Given the description of an element on the screen output the (x, y) to click on. 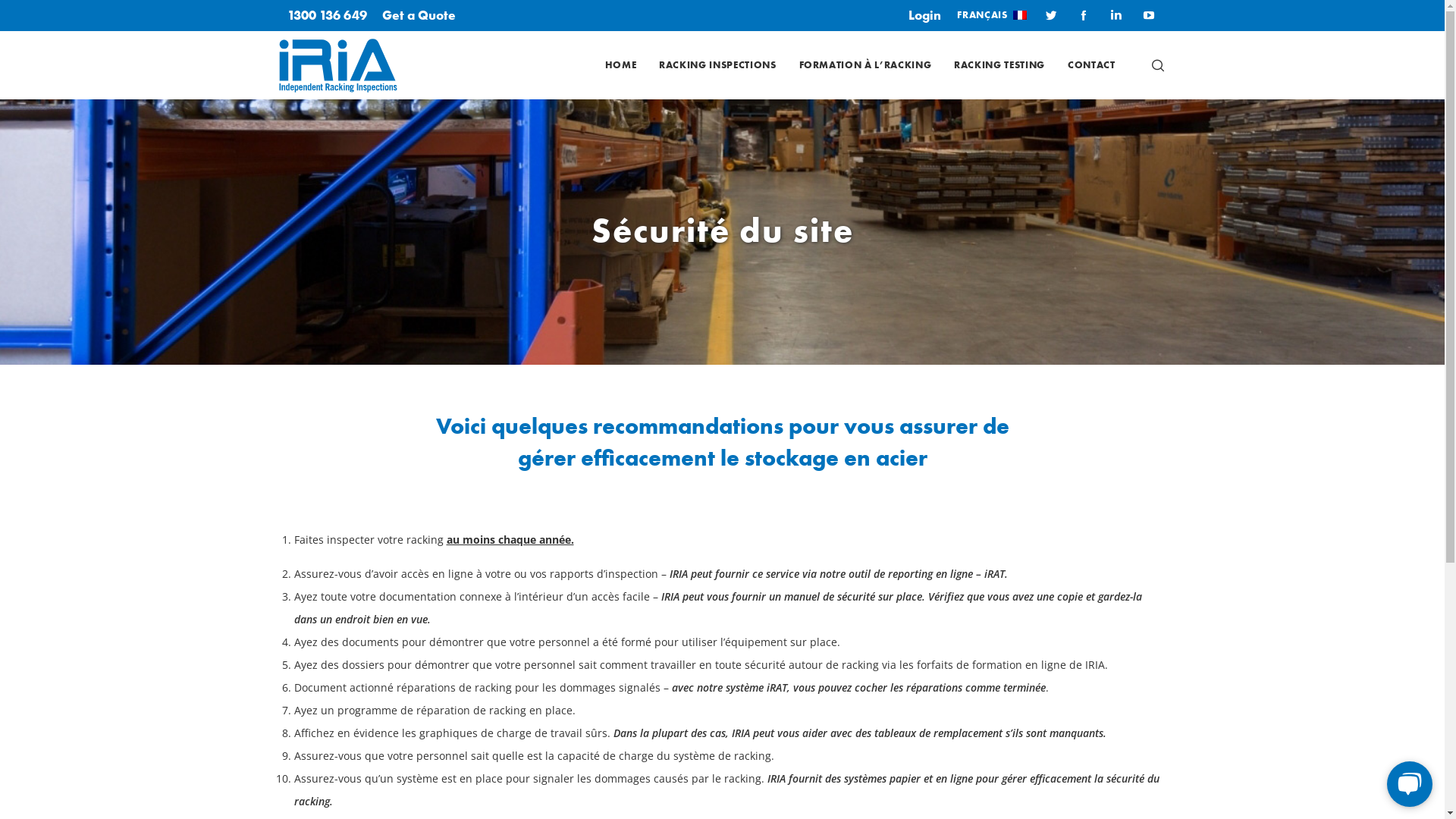
CONTACT Element type: text (1091, 65)
HOME Element type: text (621, 65)
RACKING TESTING Element type: text (998, 65)
Get a Quote Element type: text (418, 15)
RACKING INSPECTIONS Element type: text (716, 65)
Login Element type: text (924, 15)
IRIA Element type: hover (338, 65)
1300 136 649 Element type: text (326, 15)
